Given the description of an element on the screen output the (x, y) to click on. 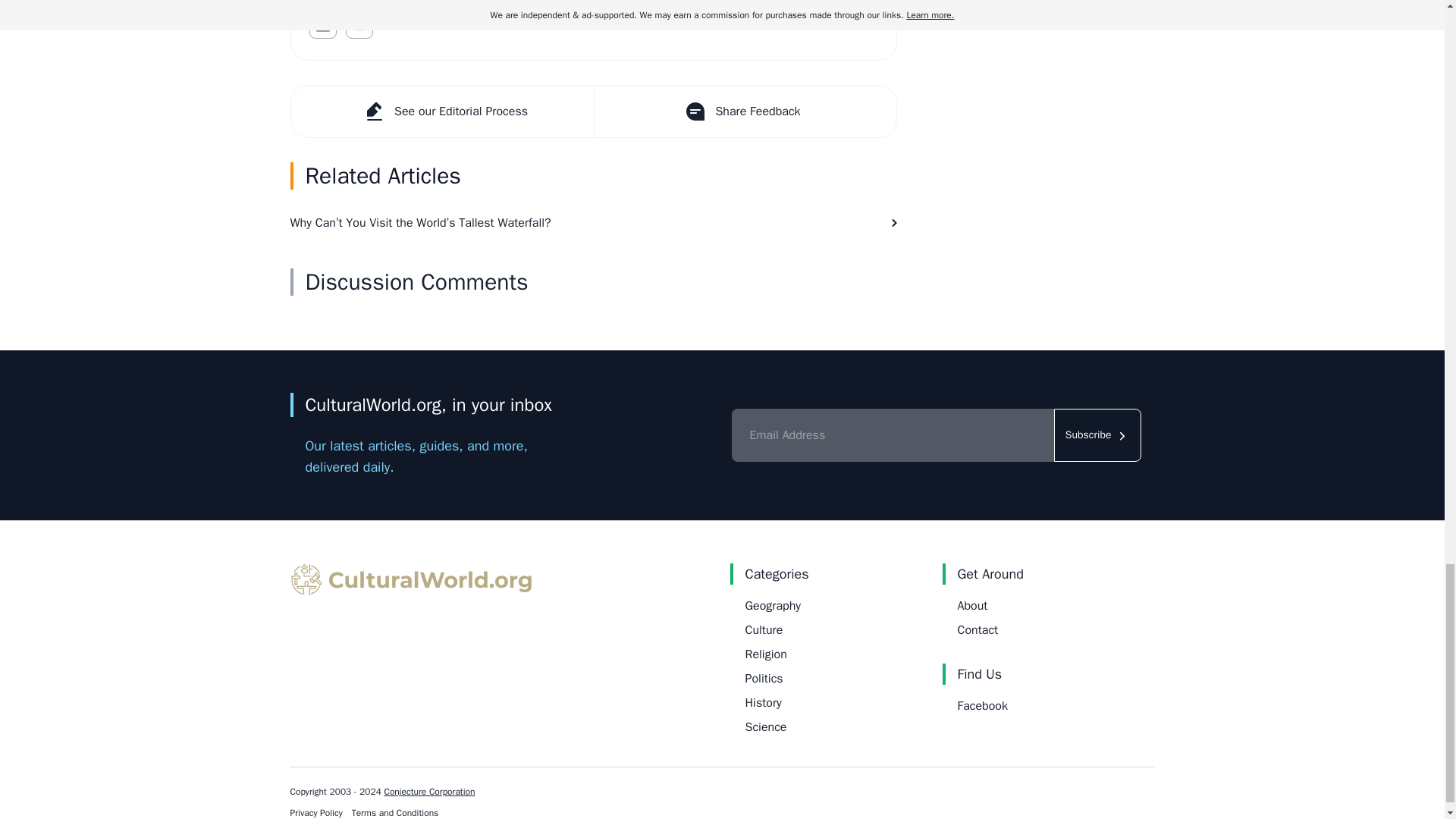
See our Editorial Process (442, 111)
Share Feedback (743, 111)
